Given the description of an element on the screen output the (x, y) to click on. 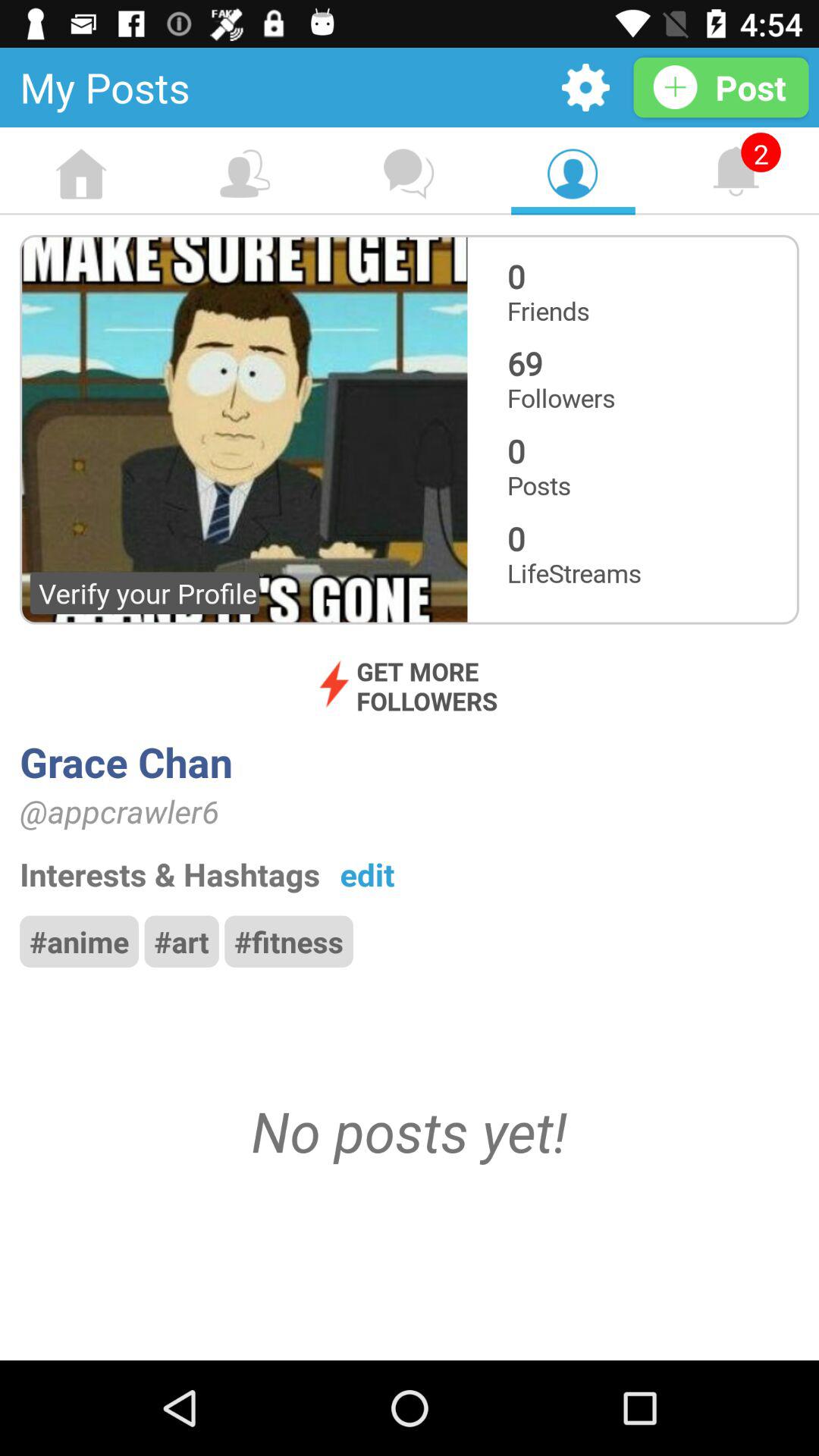
swipe to #fitness app (288, 941)
